Given the description of an element on the screen output the (x, y) to click on. 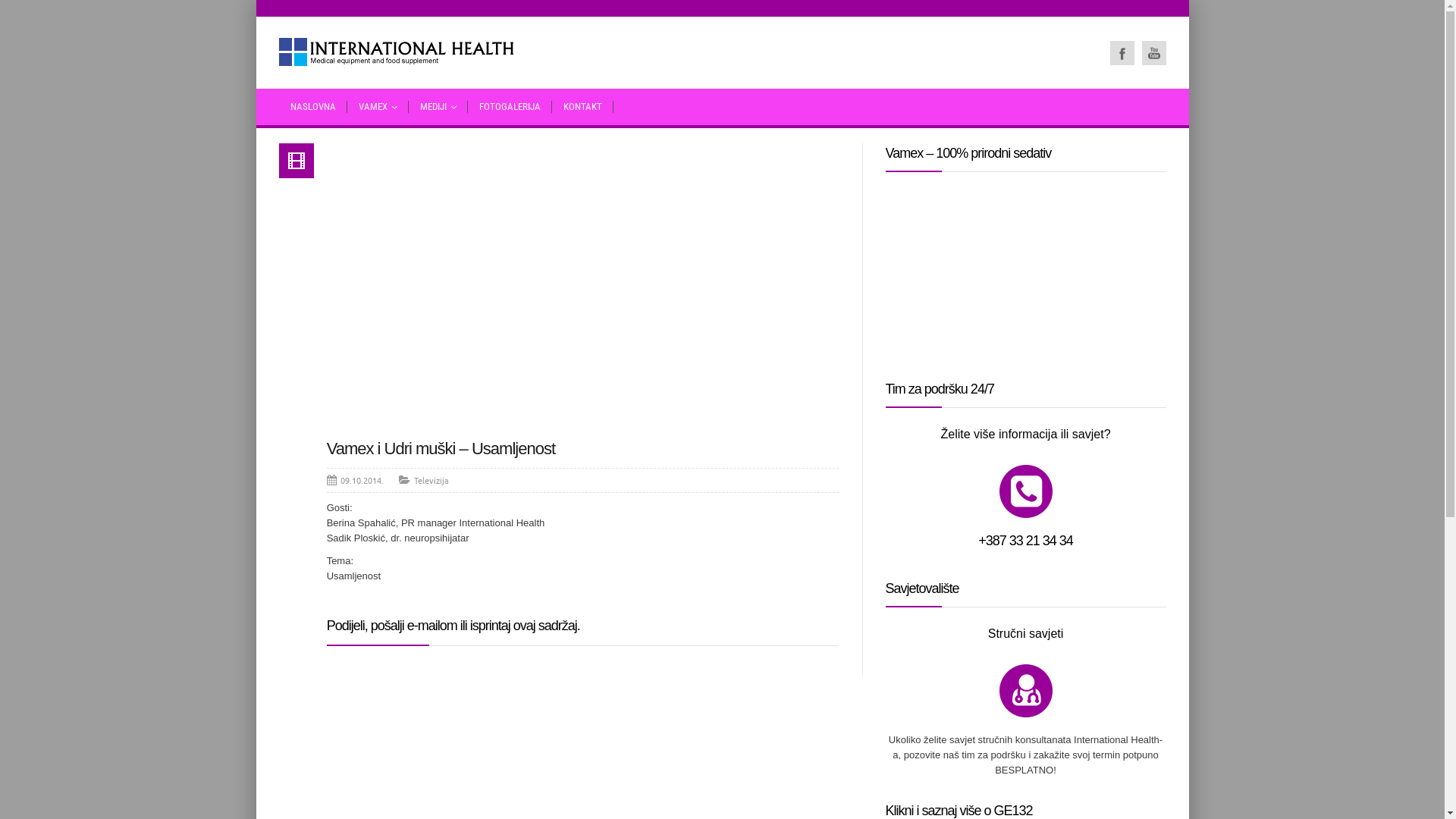
Televizija Element type: text (431, 479)
FOTOGALERIJA Element type: text (509, 106)
NASLOVNA Element type: text (313, 106)
KONTAKT Element type: text (582, 106)
MEDIJI Element type: text (437, 106)
YouTube Video Player Element type: hover (582, 286)
VAMEX Element type: text (377, 106)
